Given the description of an element on the screen output the (x, y) to click on. 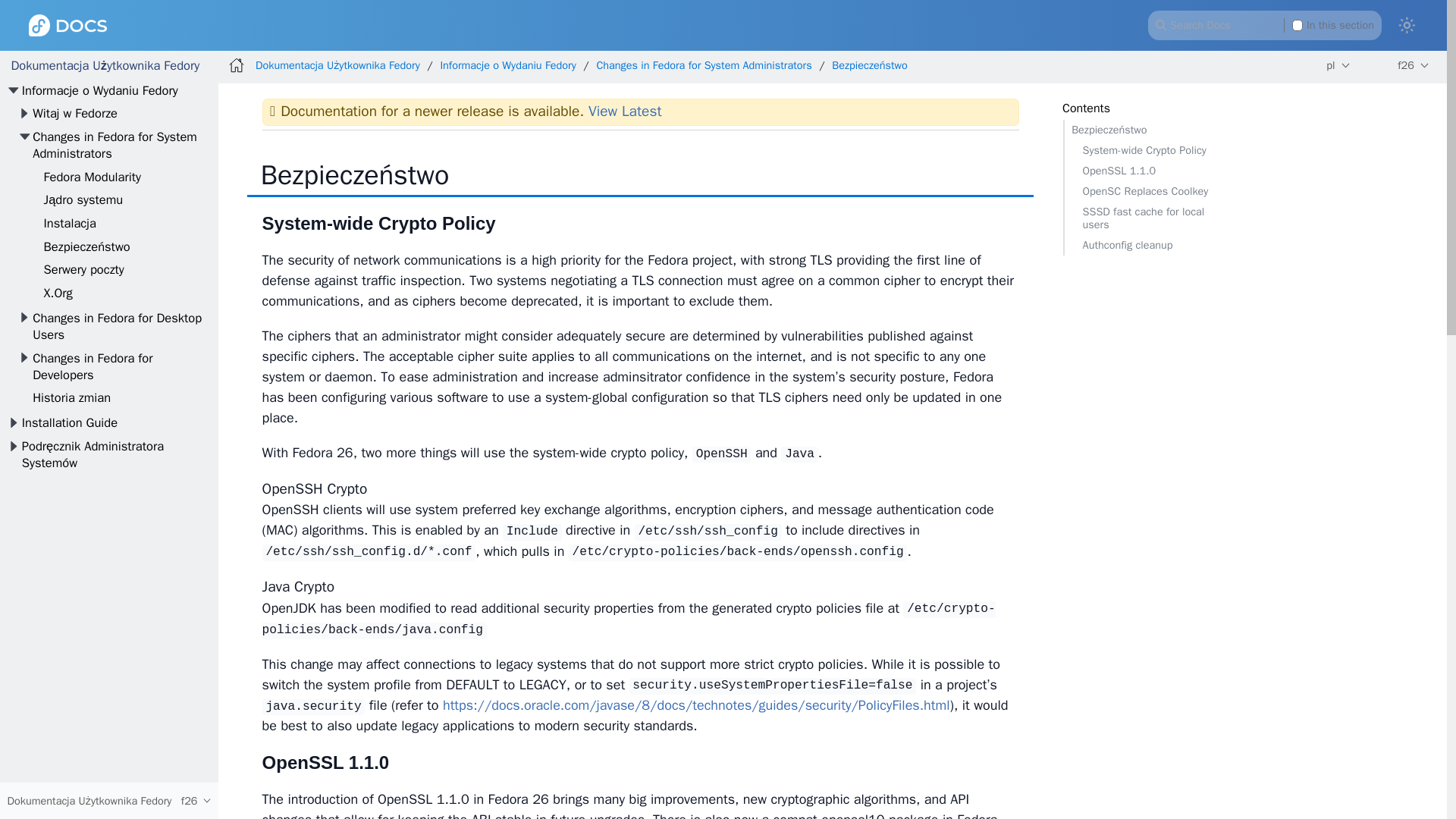
Serwery poczty (83, 269)
Witaj w Fedorze (74, 113)
Instalacja (69, 222)
on (1297, 24)
Installation Guide (69, 422)
Informacje o Wydaniu Fedory (99, 90)
Historia zmian (71, 397)
Show other versions of page (1413, 65)
Show other languages of the site (1338, 65)
X.Org (57, 293)
Fedora Modularity (92, 176)
Loading index... (1264, 24)
